Given the description of an element on the screen output the (x, y) to click on. 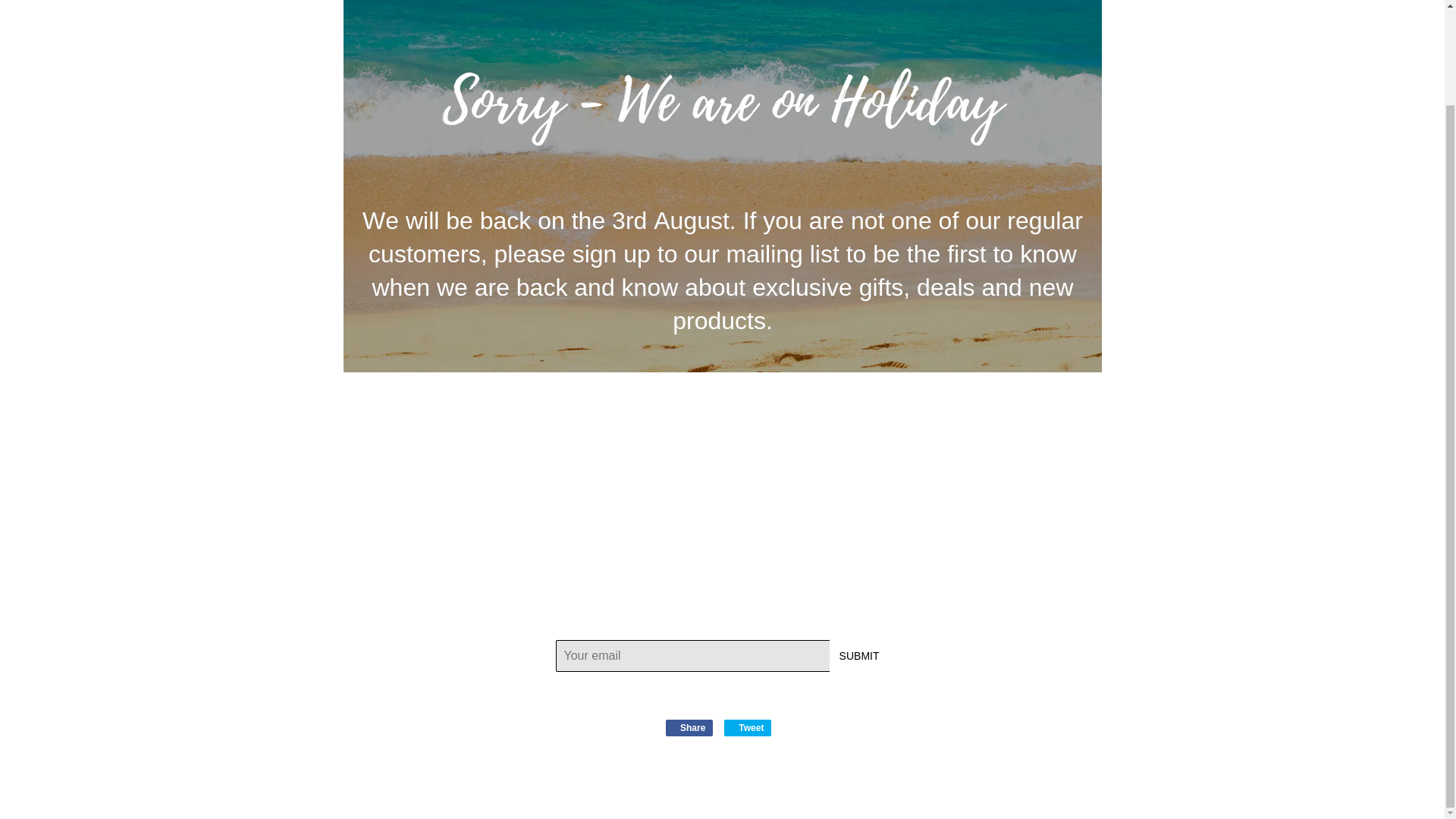
Share on Facebook (747, 727)
Shopify logo Shopify (689, 727)
Submit (797, 786)
Submit (859, 655)
Shopify logo (689, 727)
Create your own online store with Shopify (859, 655)
Tweet on Twitter (776, 787)
